Given the description of an element on the screen output the (x, y) to click on. 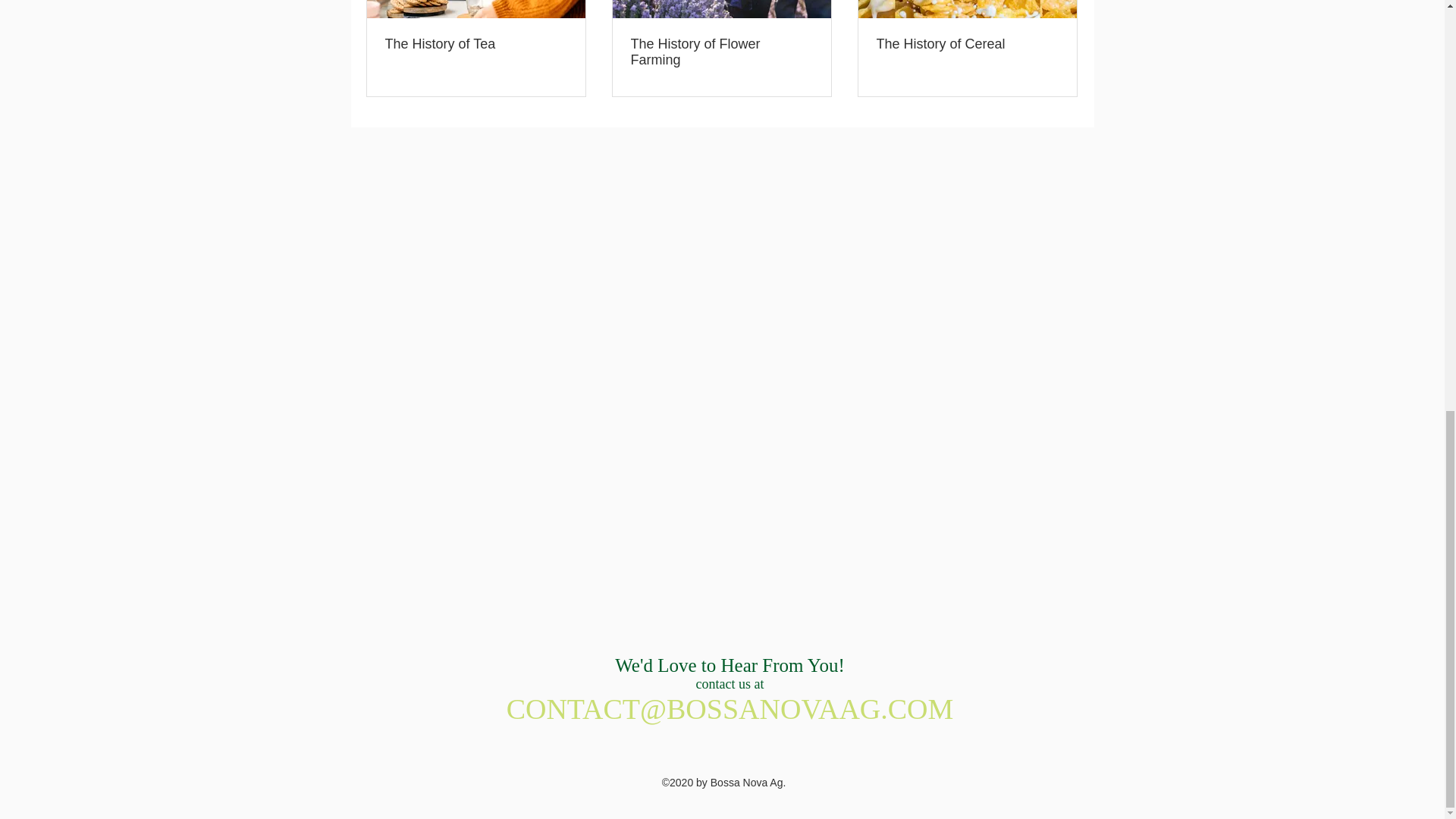
The History of Cereal (967, 44)
The History of Flower Farming (721, 51)
The History of Tea (476, 44)
